Given the description of an element on the screen output the (x, y) to click on. 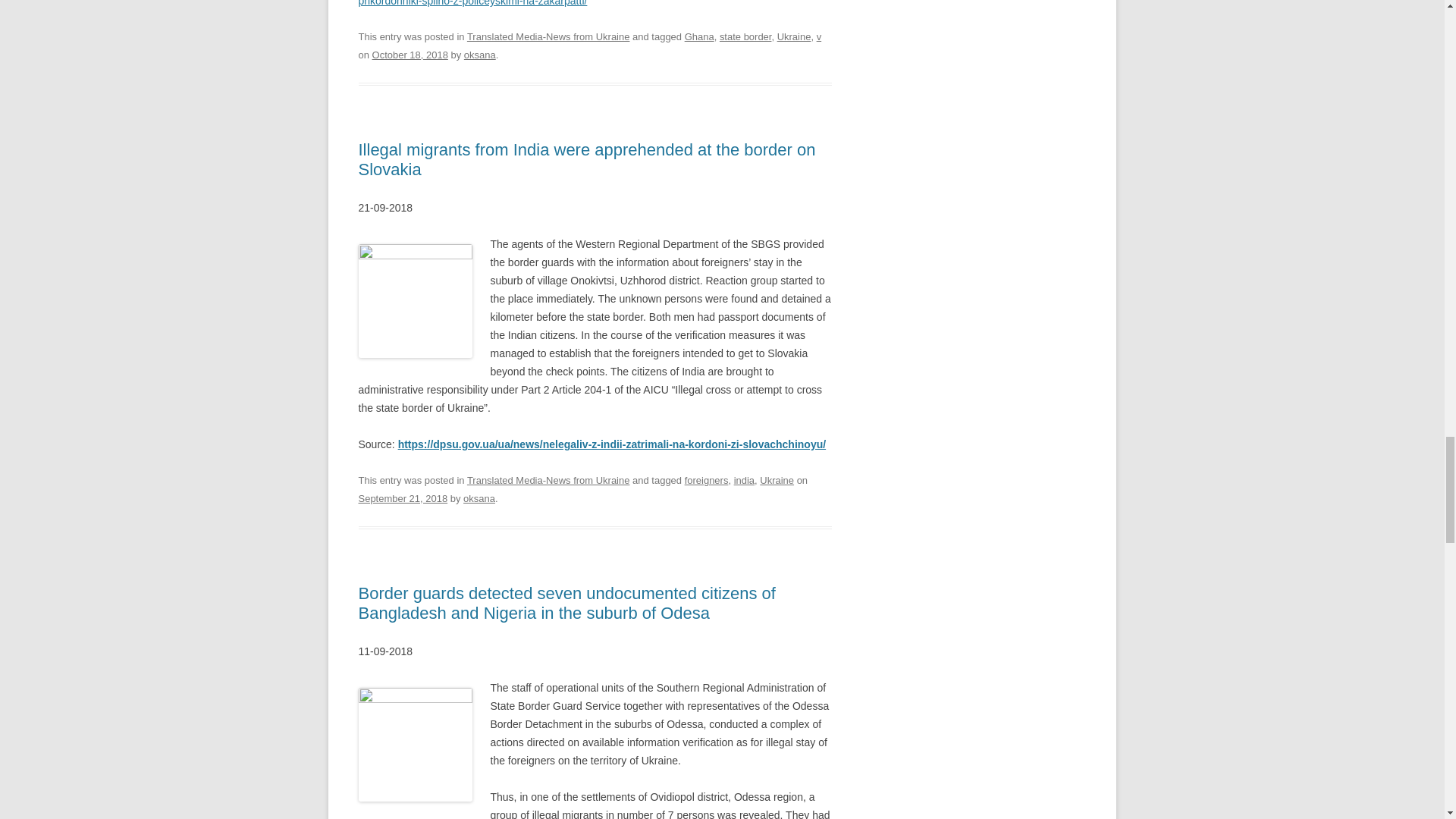
15:29 (402, 498)
15:47 (410, 54)
View all posts by oksana (480, 54)
View all posts by oksana (479, 498)
